Given the description of an element on the screen output the (x, y) to click on. 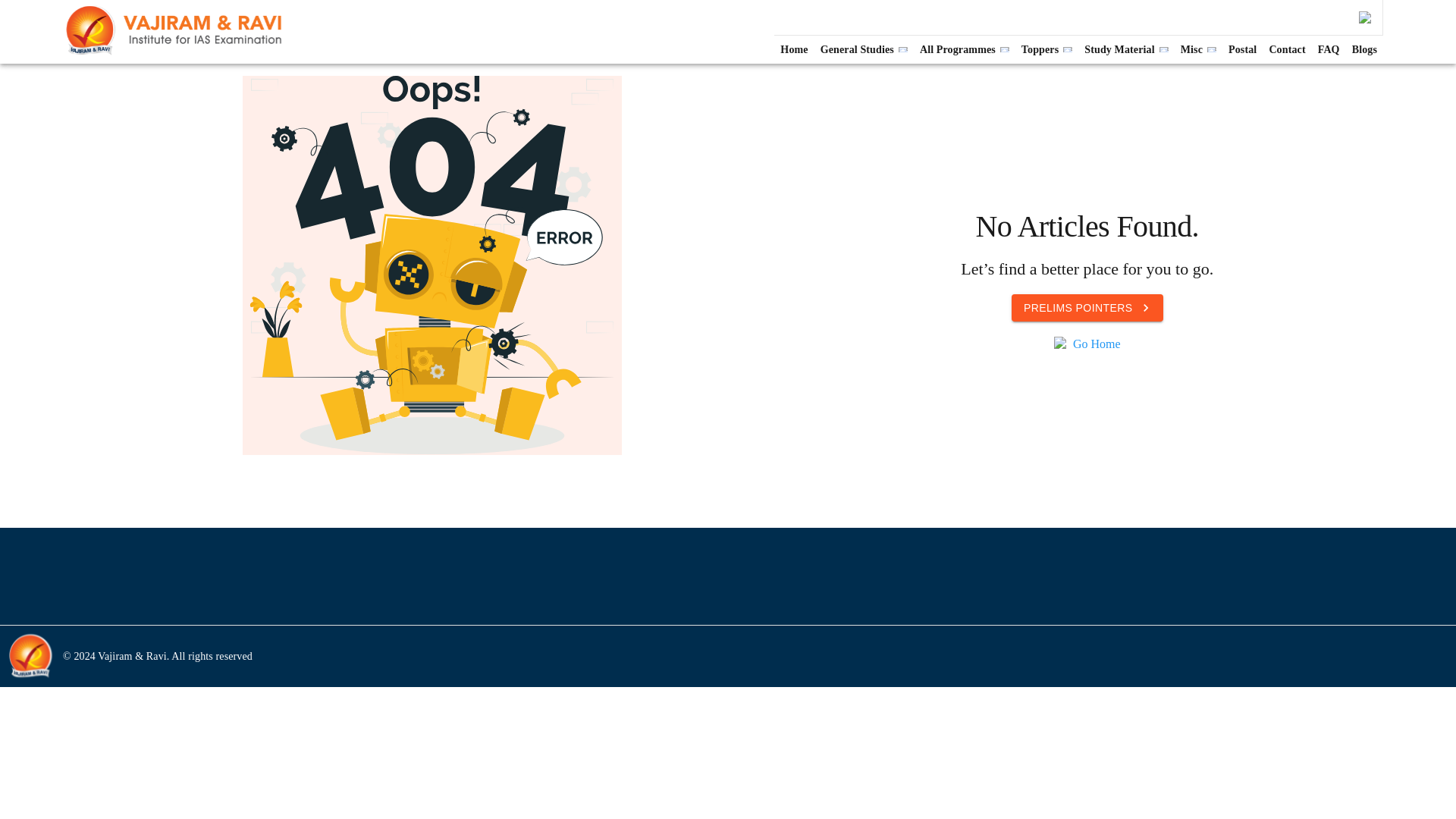
FAQ (1328, 49)
Postal (1242, 49)
Home (794, 49)
Go Home (1097, 344)
Contact (1286, 49)
PRELIMS POINTERS (1087, 308)
Blogs (1364, 49)
